Given the description of an element on the screen output the (x, y) to click on. 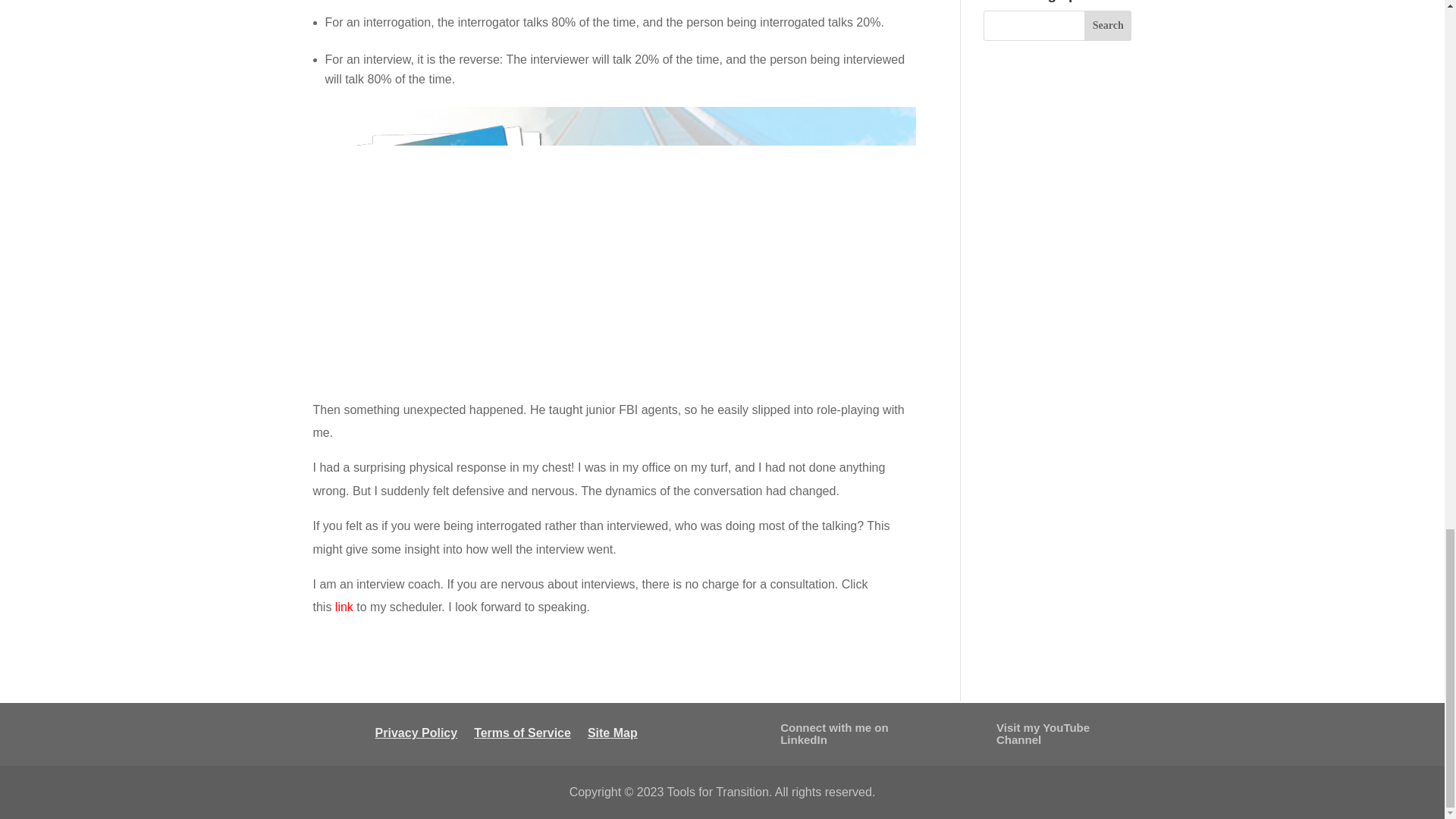
Search (1108, 25)
link (343, 606)
